Given the description of an element on the screen output the (x, y) to click on. 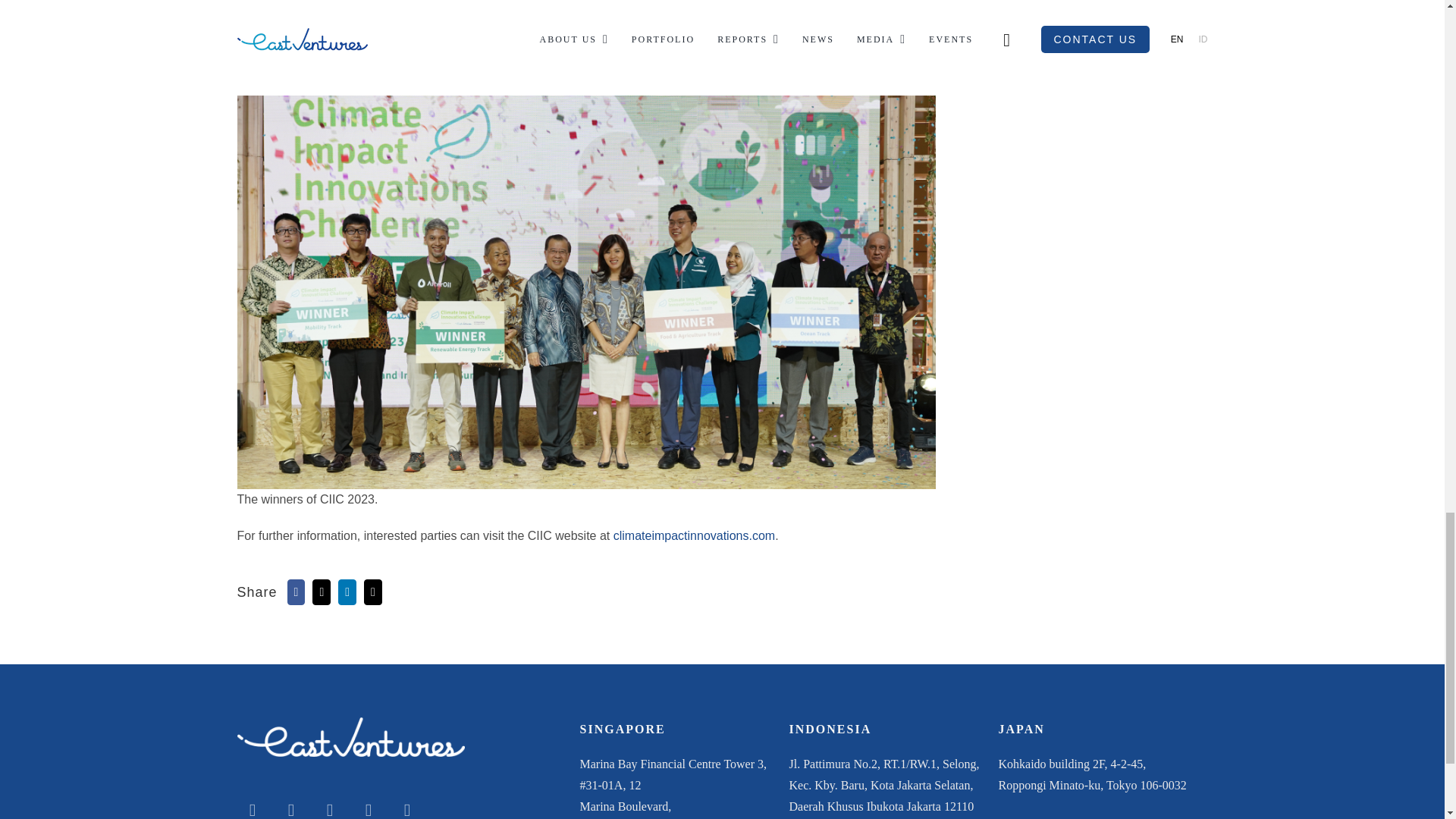
climateimpactinnovations.com (693, 535)
CIIC 2023 awarded four winners, (815, 47)
